Given the description of an element on the screen output the (x, y) to click on. 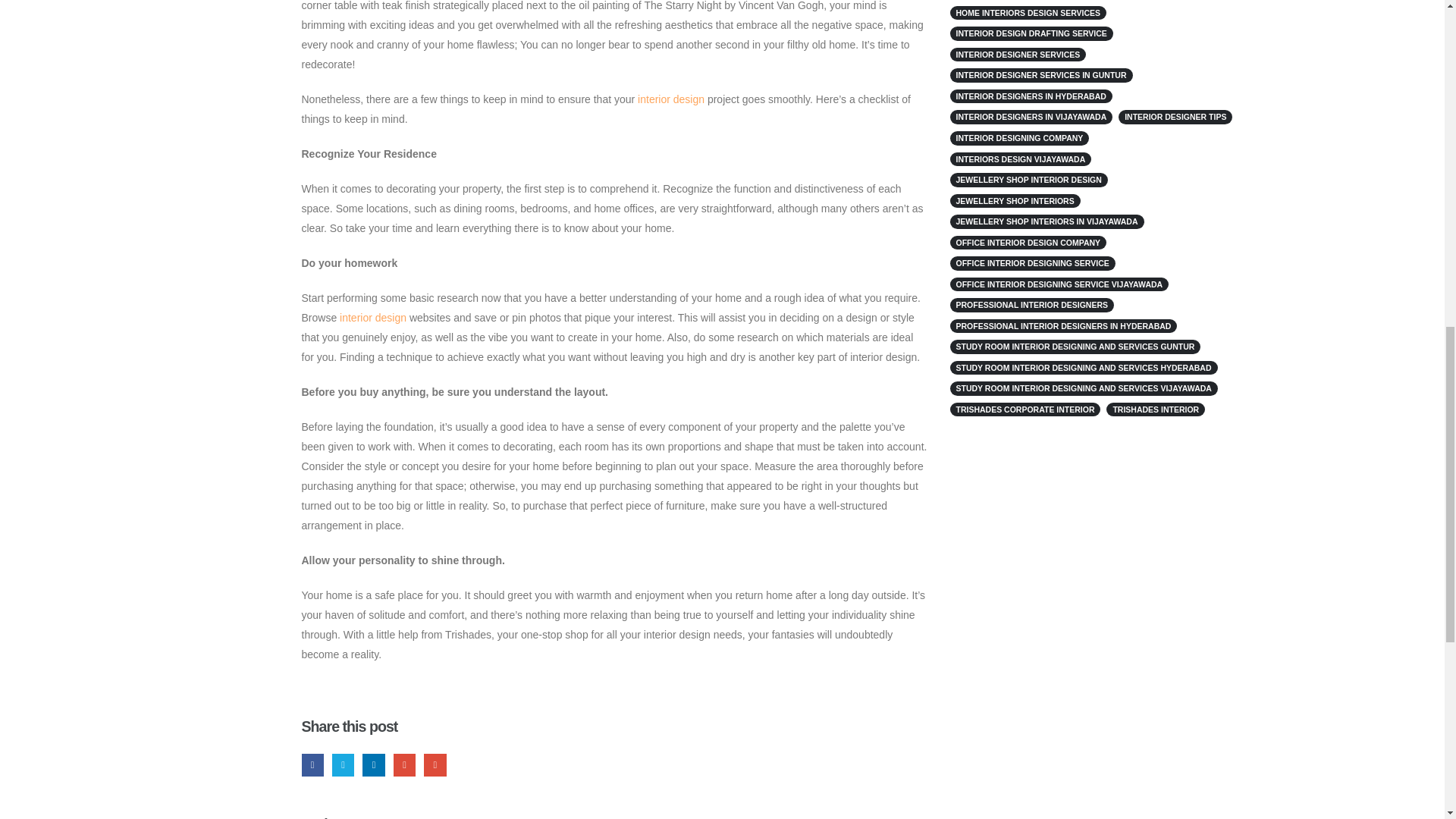
interior design (670, 99)
Twitter (342, 764)
interior design (372, 317)
LinkedIn (373, 764)
Facebook (312, 764)
Email (434, 764)
